Given the description of an element on the screen output the (x, y) to click on. 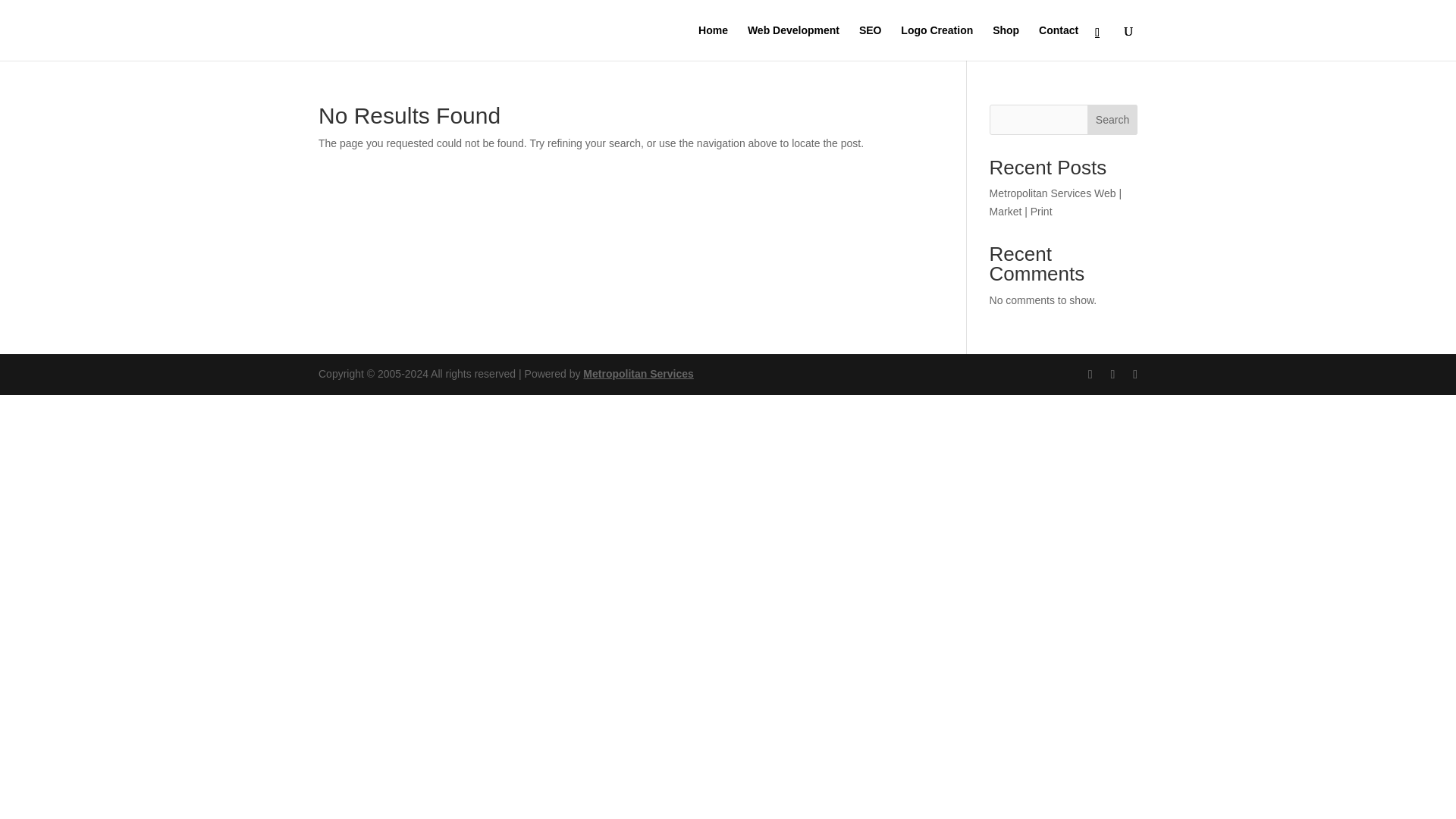
Search (1112, 119)
Metropolitan Services (638, 373)
Logo Creation (936, 42)
Metropolitan SEO Website Design (638, 373)
Contact (1058, 42)
Web Development (794, 42)
